Given the description of an element on the screen output the (x, y) to click on. 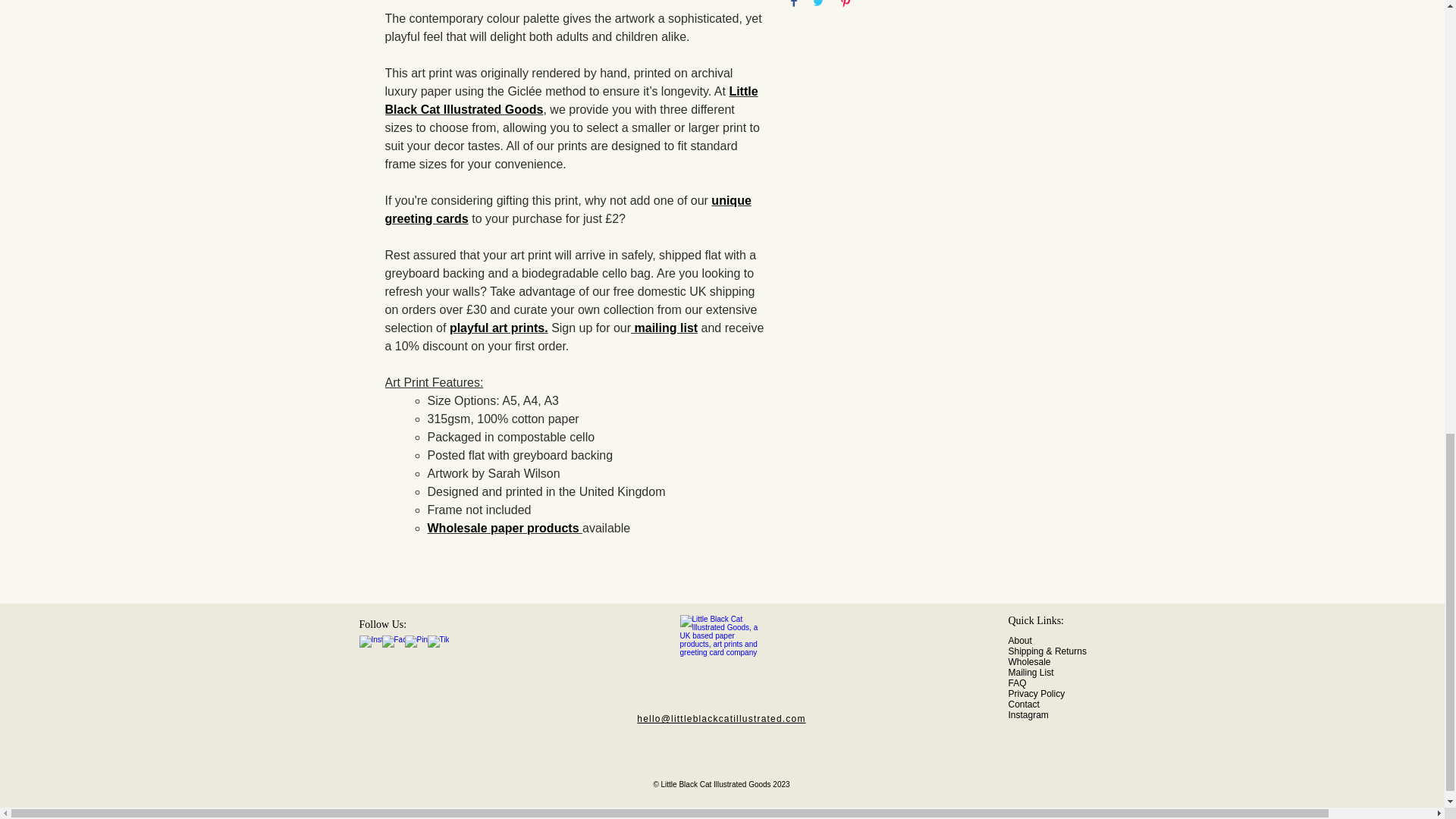
Little Black Cat Illustrated Goods (571, 100)
playful art prints. (498, 327)
unique greeting cards (568, 209)
